Given the description of an element on the screen output the (x, y) to click on. 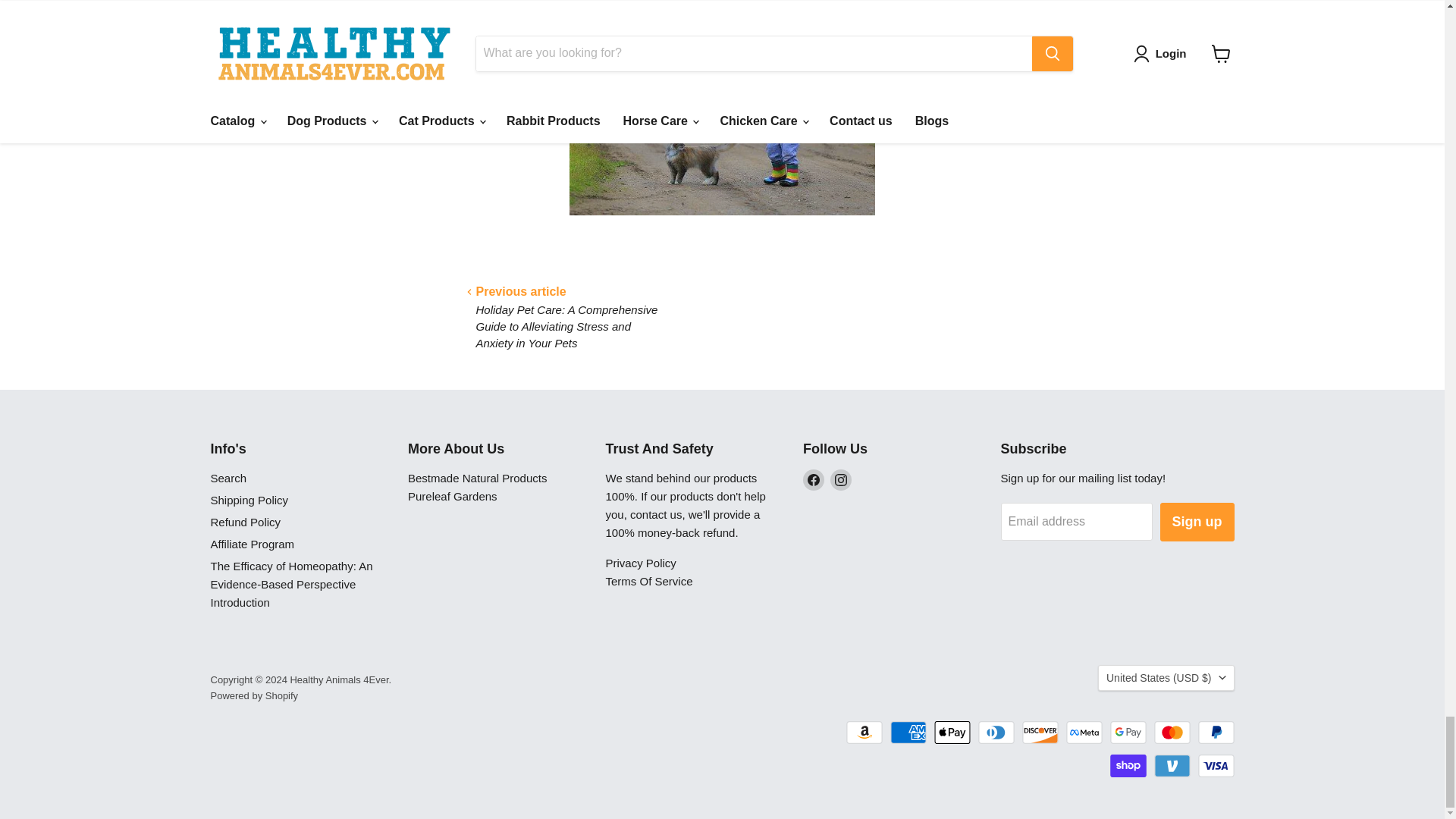
Amazon (863, 732)
Discover (1040, 732)
Apple Pay (952, 732)
American Express (907, 732)
Instagram (840, 479)
Diners Club (996, 732)
Facebook (813, 479)
